Given the description of an element on the screen output the (x, y) to click on. 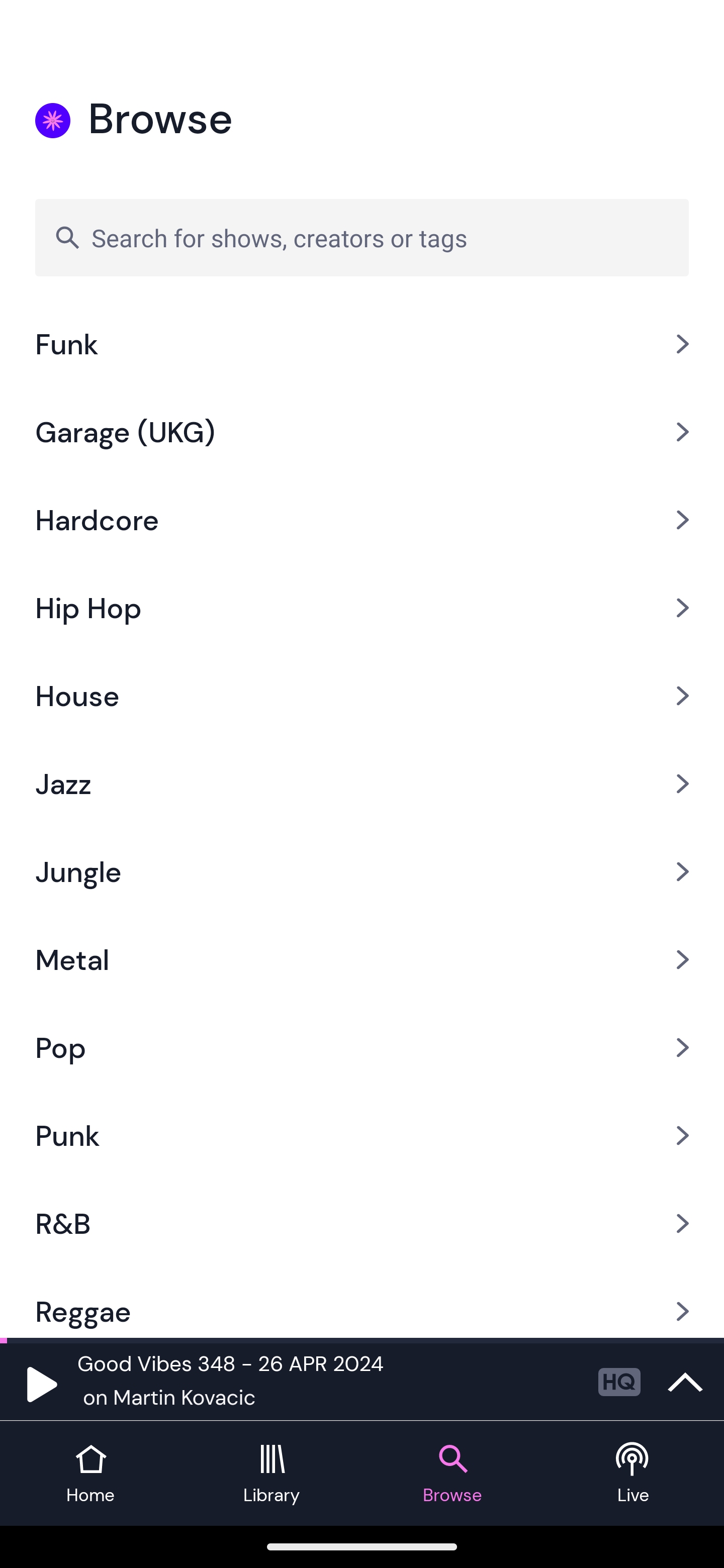
Search for shows, creators or tags (361, 237)
Funk (361, 344)
Garage (UKG) (361, 431)
Hardcore (361, 520)
Hip Hop (361, 608)
House (361, 696)
Jazz (361, 783)
Jungle (361, 871)
Metal (361, 959)
Pop (361, 1047)
Punk (361, 1135)
R&B (361, 1222)
Reggae (361, 1301)
Home tab Home (90, 1473)
Library tab Library (271, 1473)
Browse tab Browse (452, 1473)
Live tab Live (633, 1473)
